Given the description of an element on the screen output the (x, y) to click on. 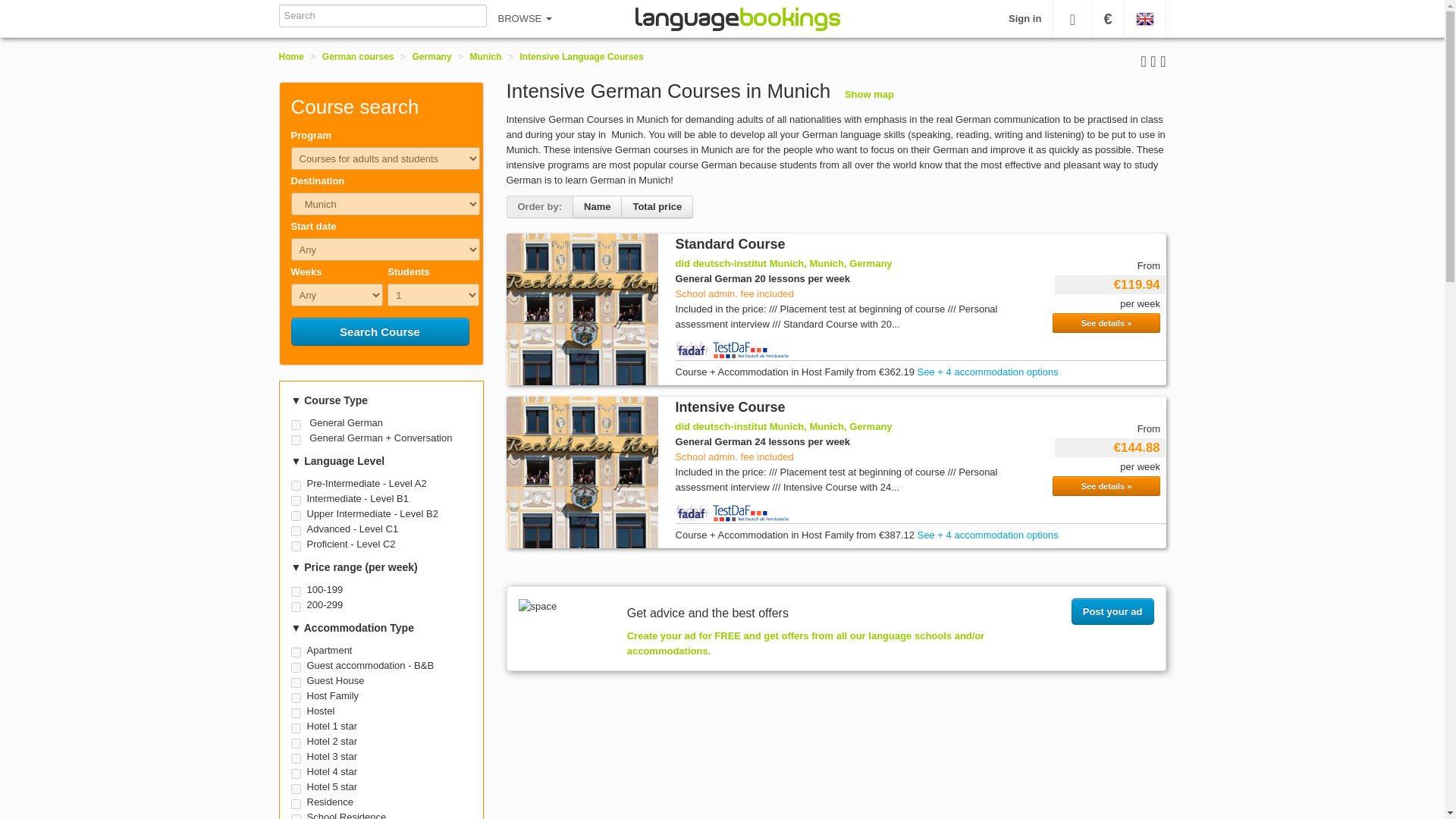
did deutsch-institut Munich (582, 471)
Sign in (1024, 18)
Hotel 5 star (296, 788)
 Standard Course (730, 243)
BROWSE (524, 18)
Hotel 3 star (296, 758)
Hostel (296, 713)
4 (296, 501)
Hotel 2 star (296, 743)
 Intensive Course (730, 406)
